Given the description of an element on the screen output the (x, y) to click on. 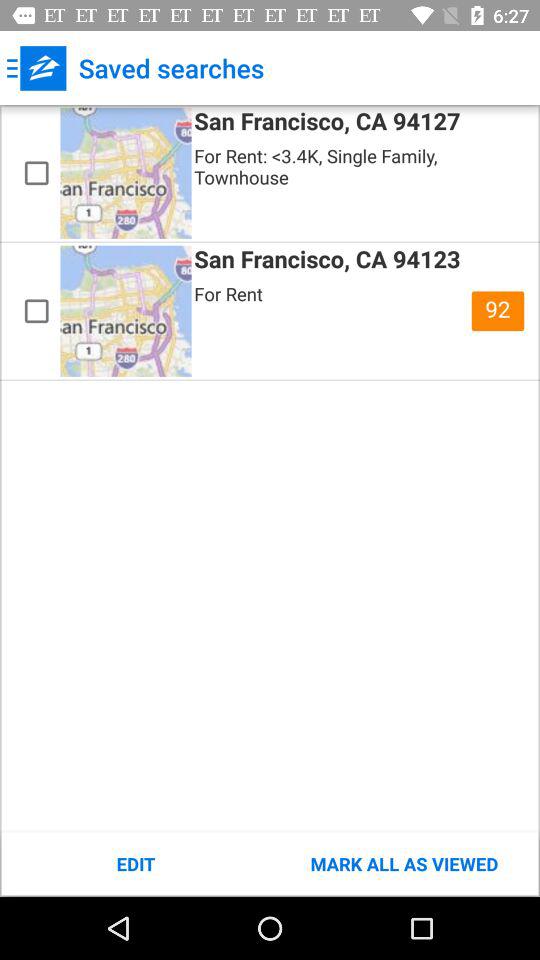
click the check box (36, 311)
